Given the description of an element on the screen output the (x, y) to click on. 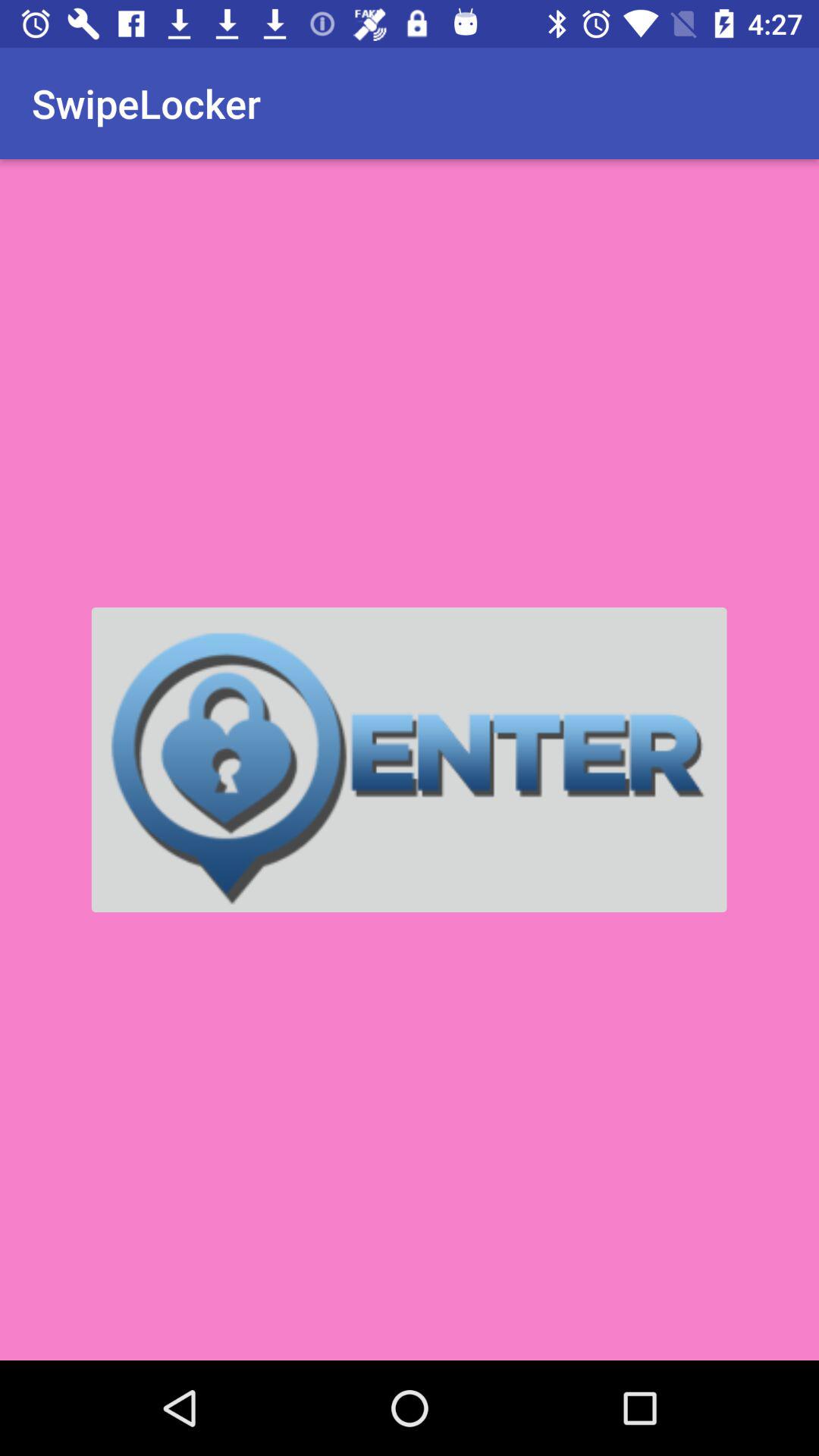
turn off item at the center (408, 759)
